Given the description of an element on the screen output the (x, y) to click on. 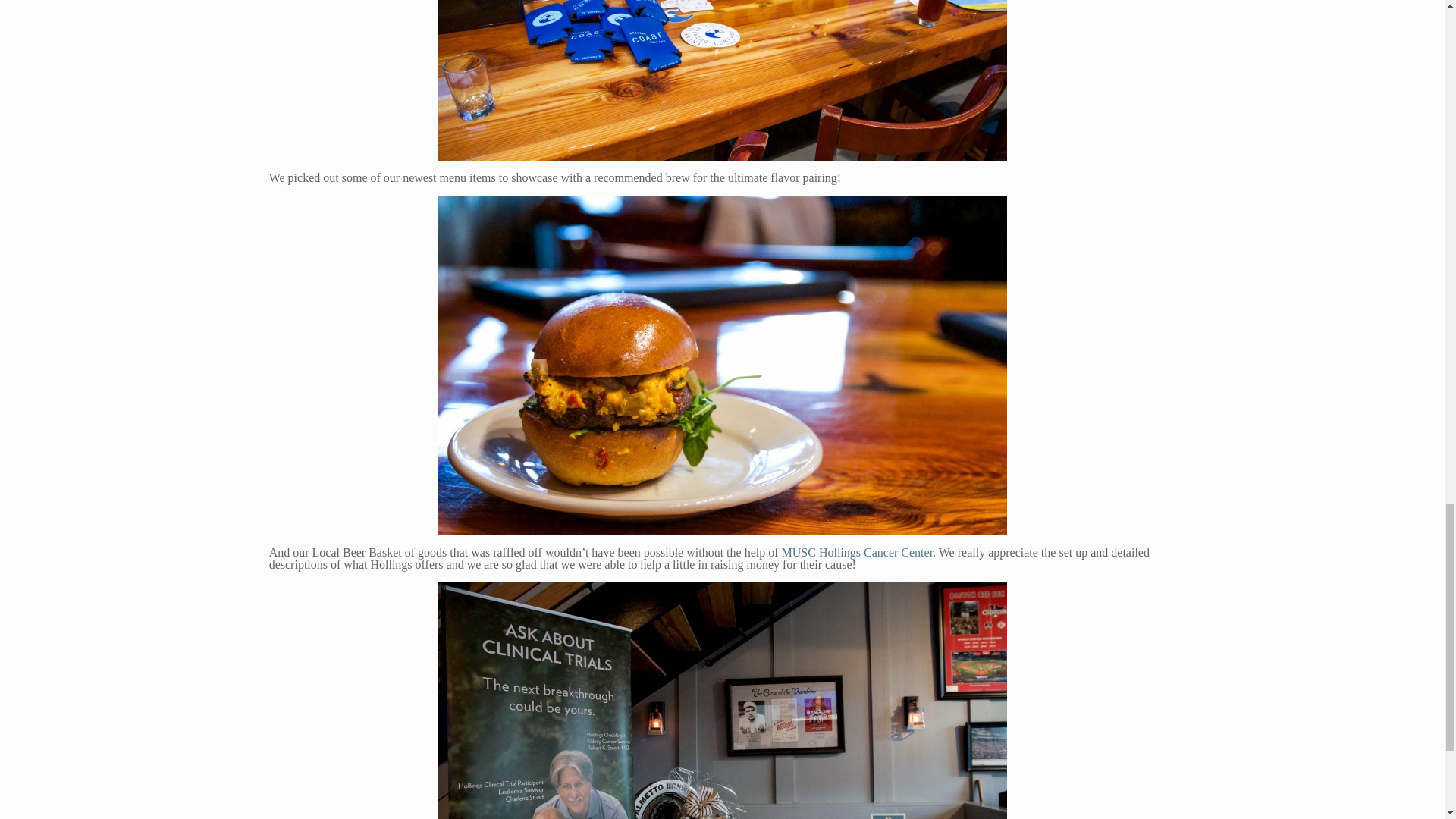
MUSC Hollings Cancer Center (857, 552)
